Given the description of an element on the screen output the (x, y) to click on. 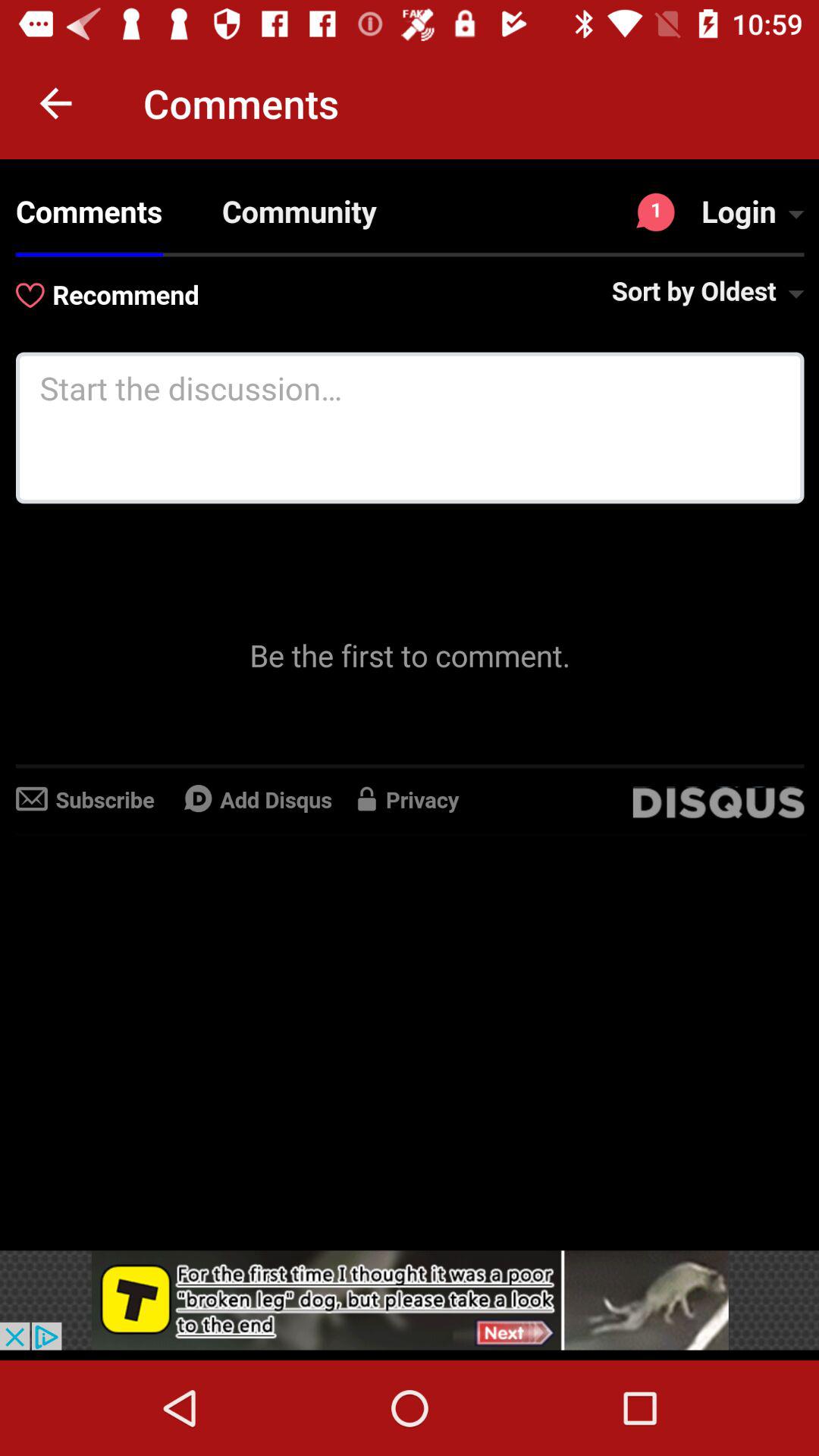
details about advertisement (409, 1300)
